Given the description of an element on the screen output the (x, y) to click on. 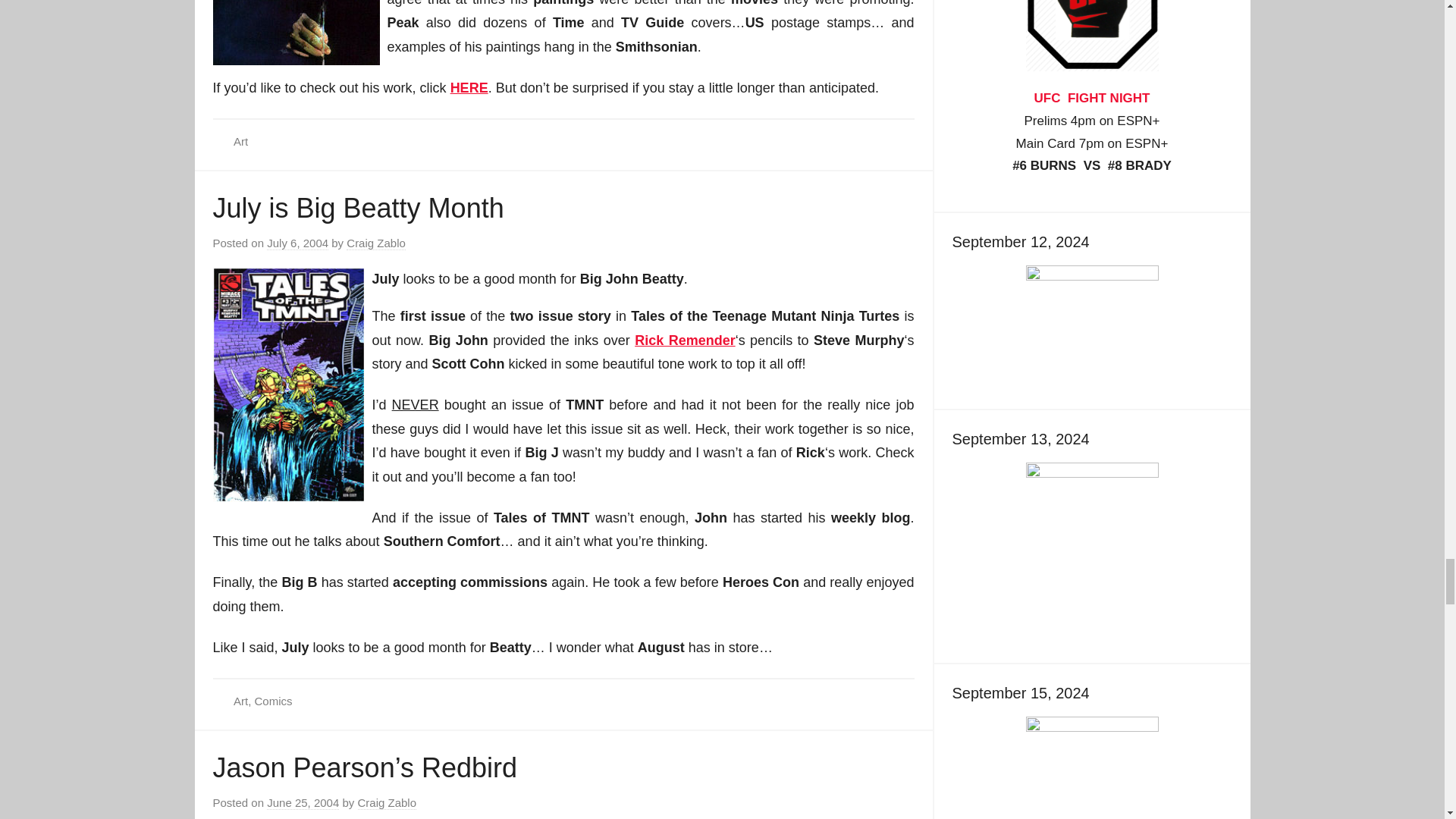
View all posts by Craig Zablo (376, 243)
View all posts by Craig Zablo (387, 802)
